Given the description of an element on the screen output the (x, y) to click on. 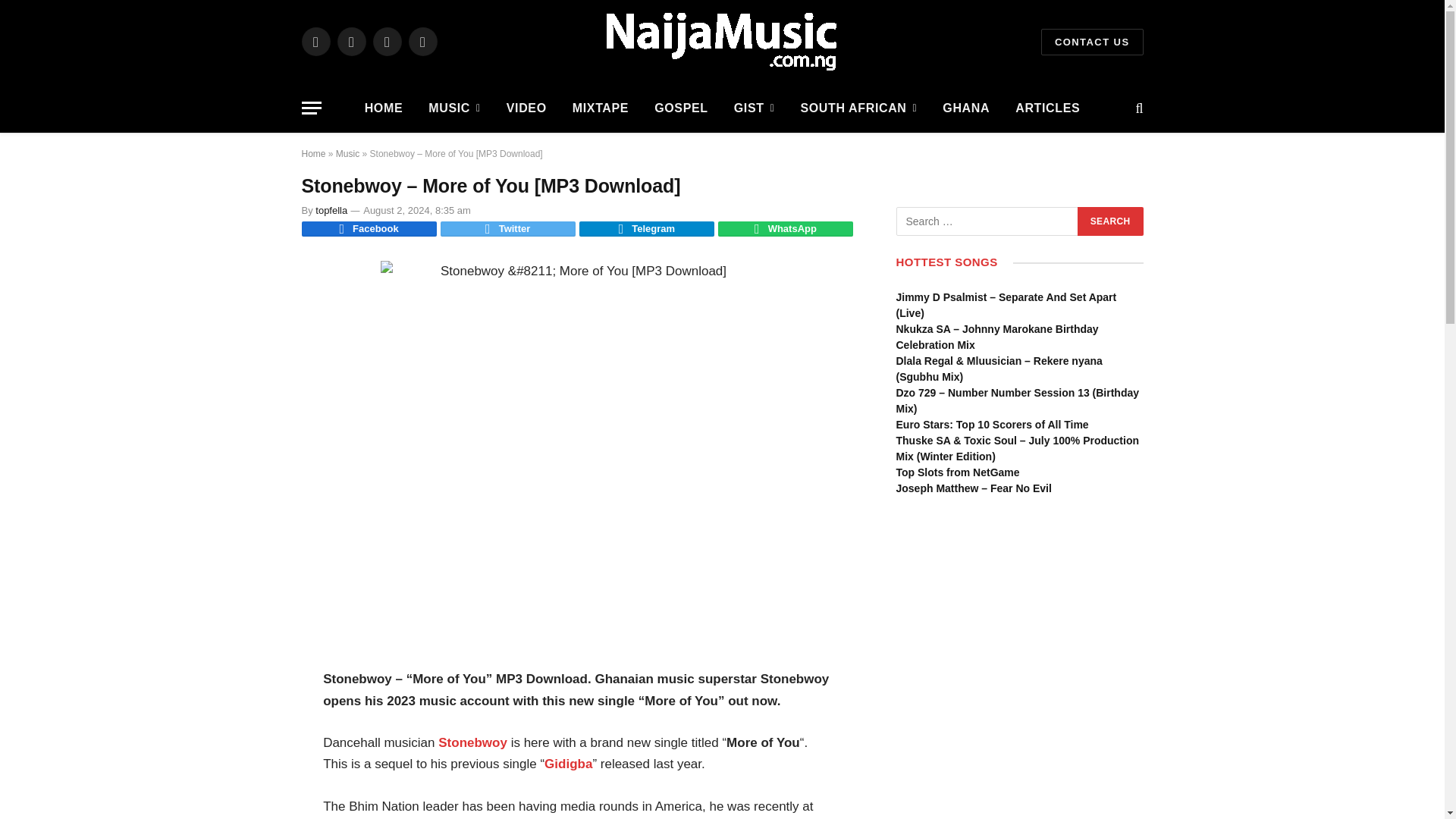
Stonebwoy (472, 742)
Facebook (368, 228)
Gidigba (568, 763)
SOUTH AFRICAN (858, 107)
Share on Twitter (368, 228)
Share on Twitter (508, 228)
Facebook (315, 41)
GHANA (966, 107)
GIST (753, 107)
HOME (384, 107)
